Given the description of an element on the screen output the (x, y) to click on. 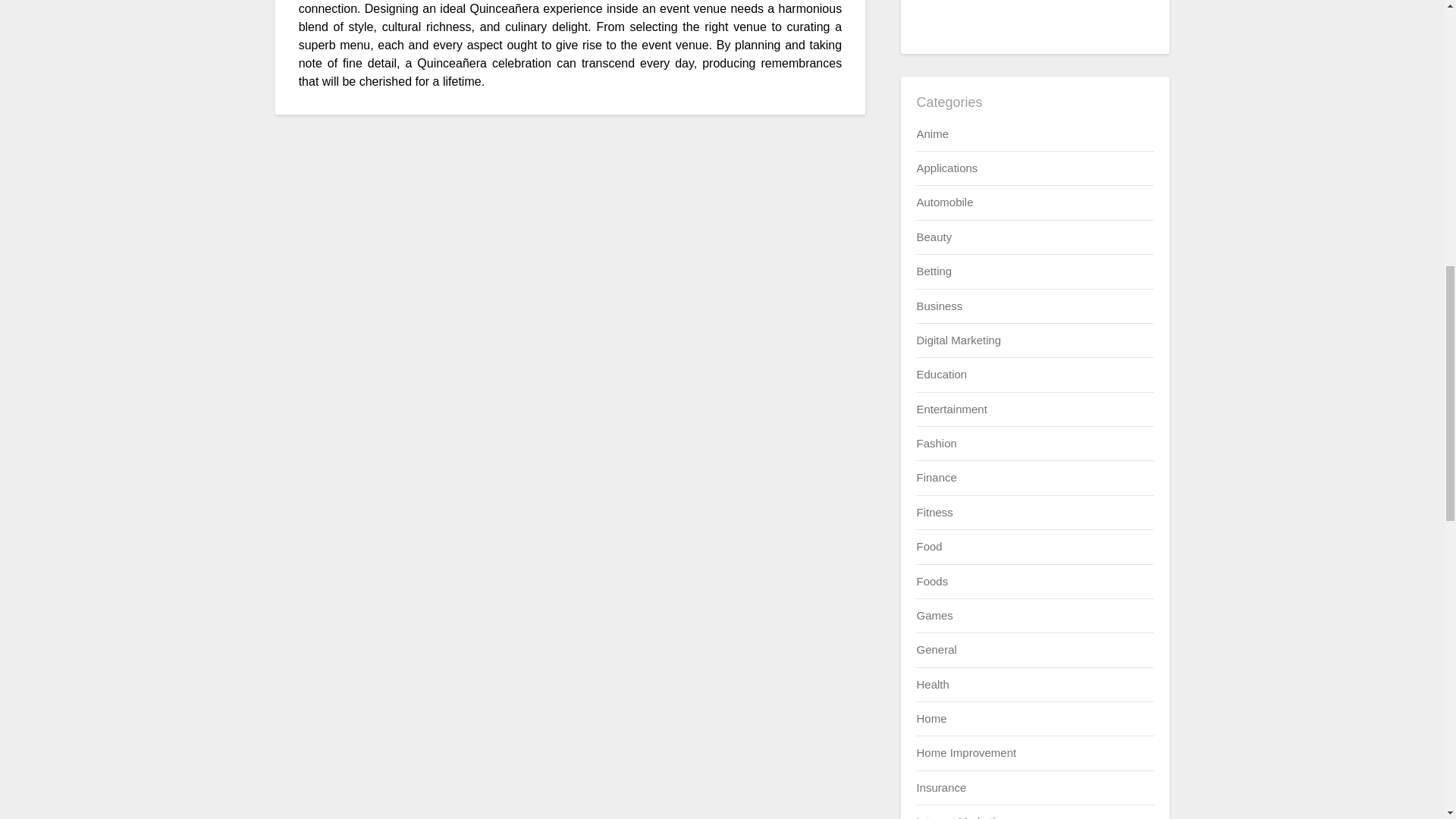
Automobile (943, 201)
Education (940, 373)
Health (932, 684)
Food (928, 545)
Digital Marketing (958, 339)
Business (938, 305)
Home Improvement (965, 752)
Finance (935, 477)
Insurance (940, 787)
General (935, 649)
